Given the description of an element on the screen output the (x, y) to click on. 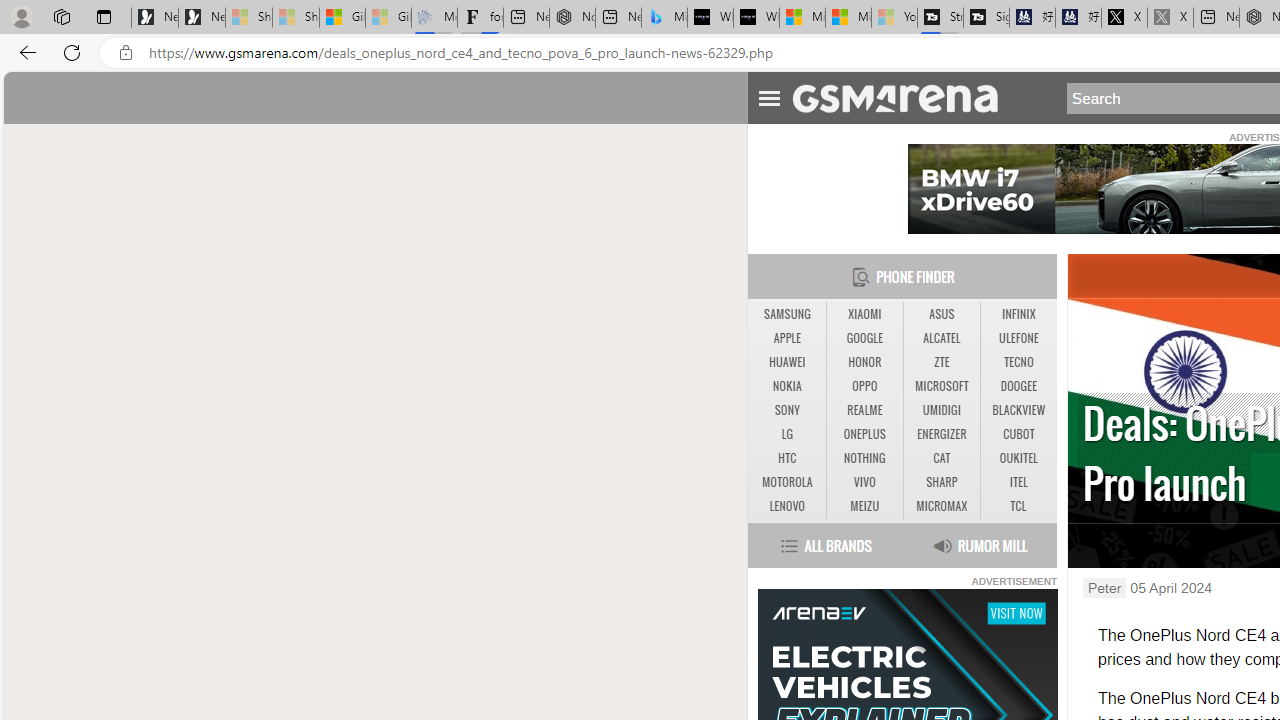
Peter (1104, 588)
ONEPLUS (864, 434)
REALME (864, 411)
ULEFONE (1018, 339)
NOTHING (863, 457)
MEIZU (864, 506)
NOKIA (786, 385)
TCL (1018, 506)
BLACKVIEW (1018, 410)
LG (786, 434)
LENOVO (786, 506)
ASUS (941, 313)
